Given the description of an element on the screen output the (x, y) to click on. 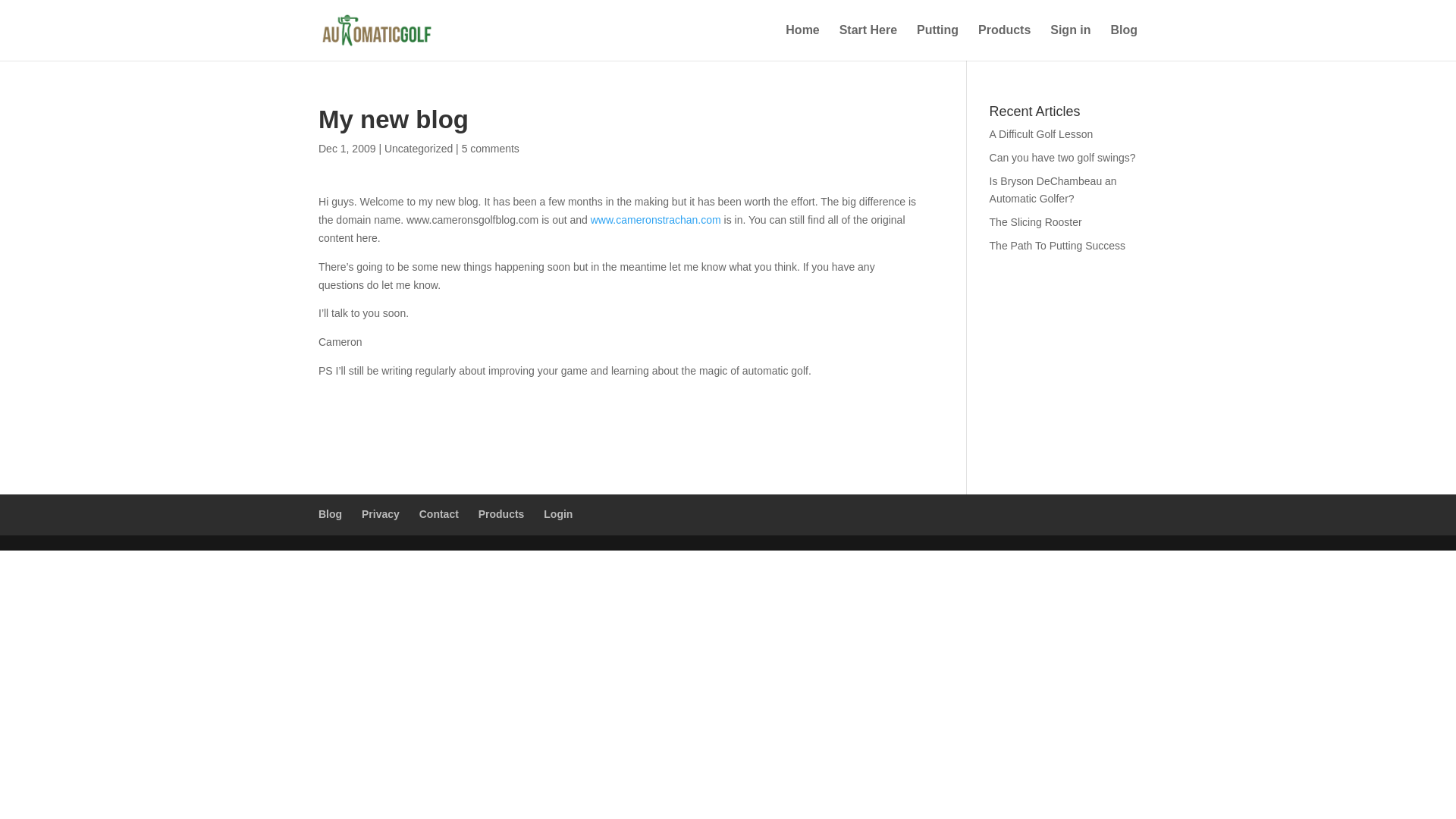
A Difficult Golf Lesson (1041, 133)
Products (501, 513)
www.cameronstrachan.com (655, 219)
Home (802, 42)
Privacy (379, 513)
Uncategorized (418, 148)
Contact (438, 513)
The Path To Putting Success (1057, 245)
5 comments (490, 148)
Blog (330, 513)
Can you have two golf swings? (1062, 157)
Putting (937, 42)
Is Bryson DeChambeau an Automatic Golfer? (1053, 190)
Login (557, 513)
Products (1004, 42)
